Given the description of an element on the screen output the (x, y) to click on. 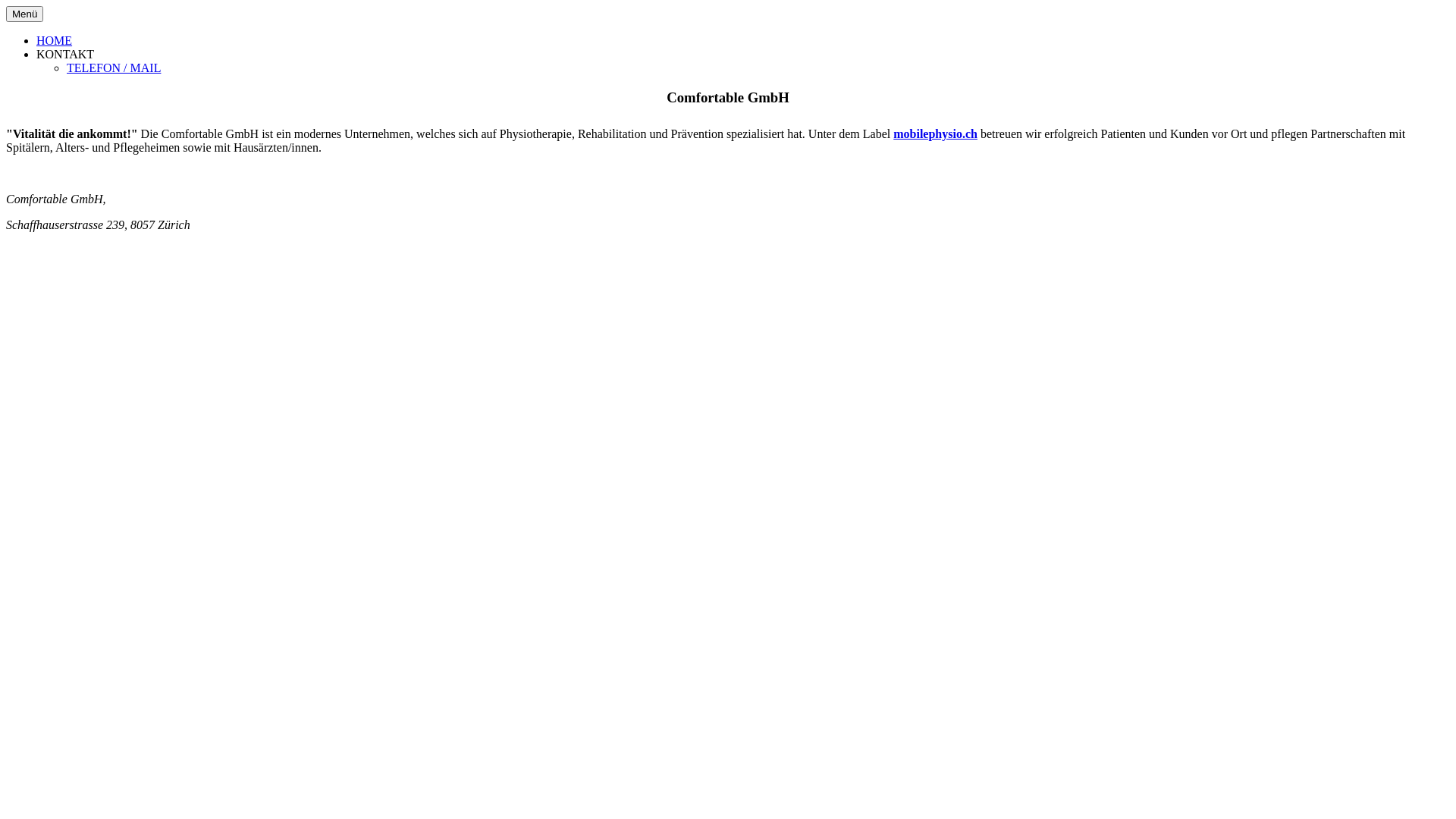
TELEFON / MAIL Element type: text (113, 67)
HOME Element type: text (54, 40)
mobilephysio.ch Element type: text (935, 133)
